Given the description of an element on the screen output the (x, y) to click on. 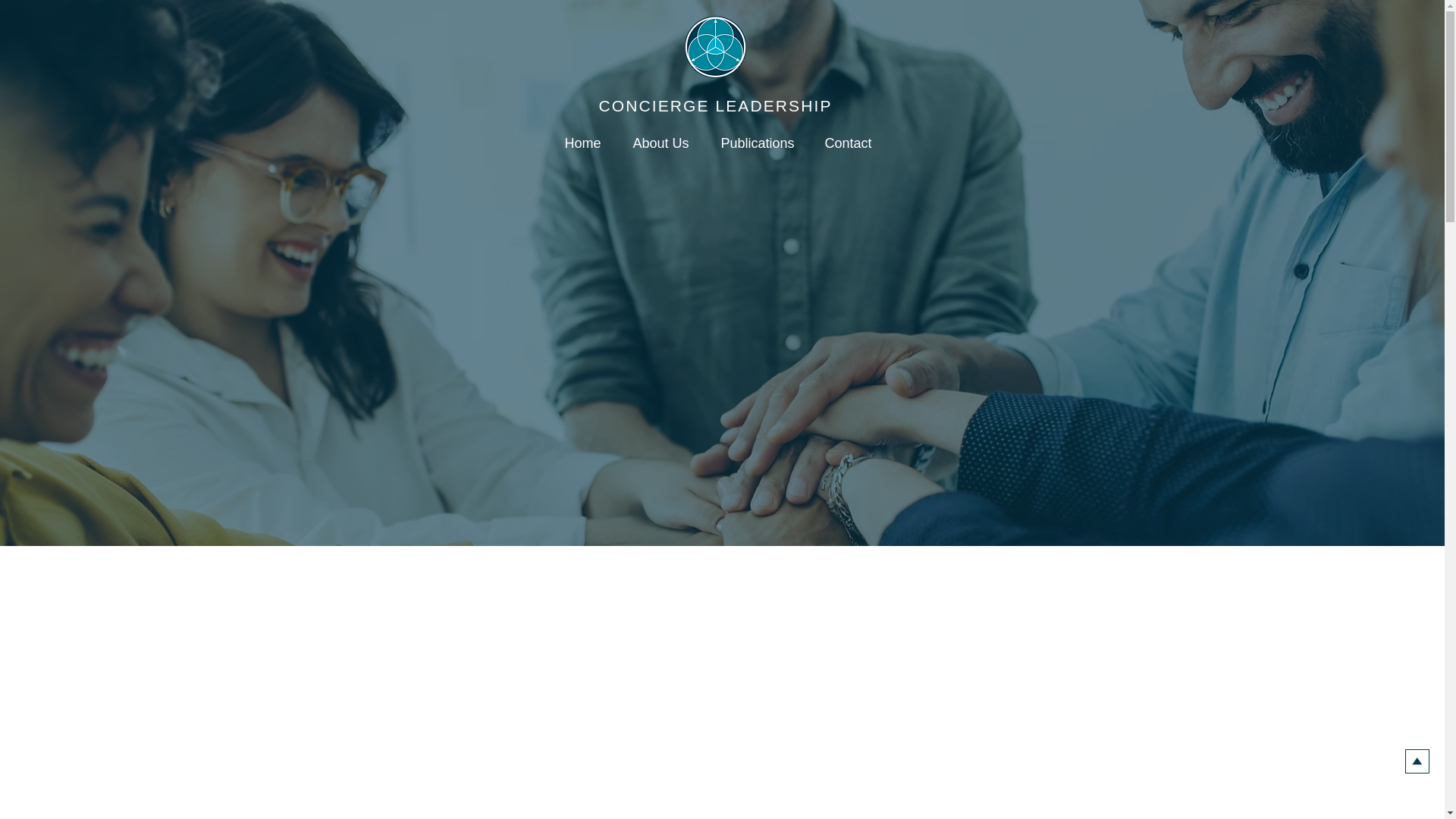
Contact (851, 143)
About Us (663, 143)
Home (587, 143)
Publications (759, 143)
